Given the description of an element on the screen output the (x, y) to click on. 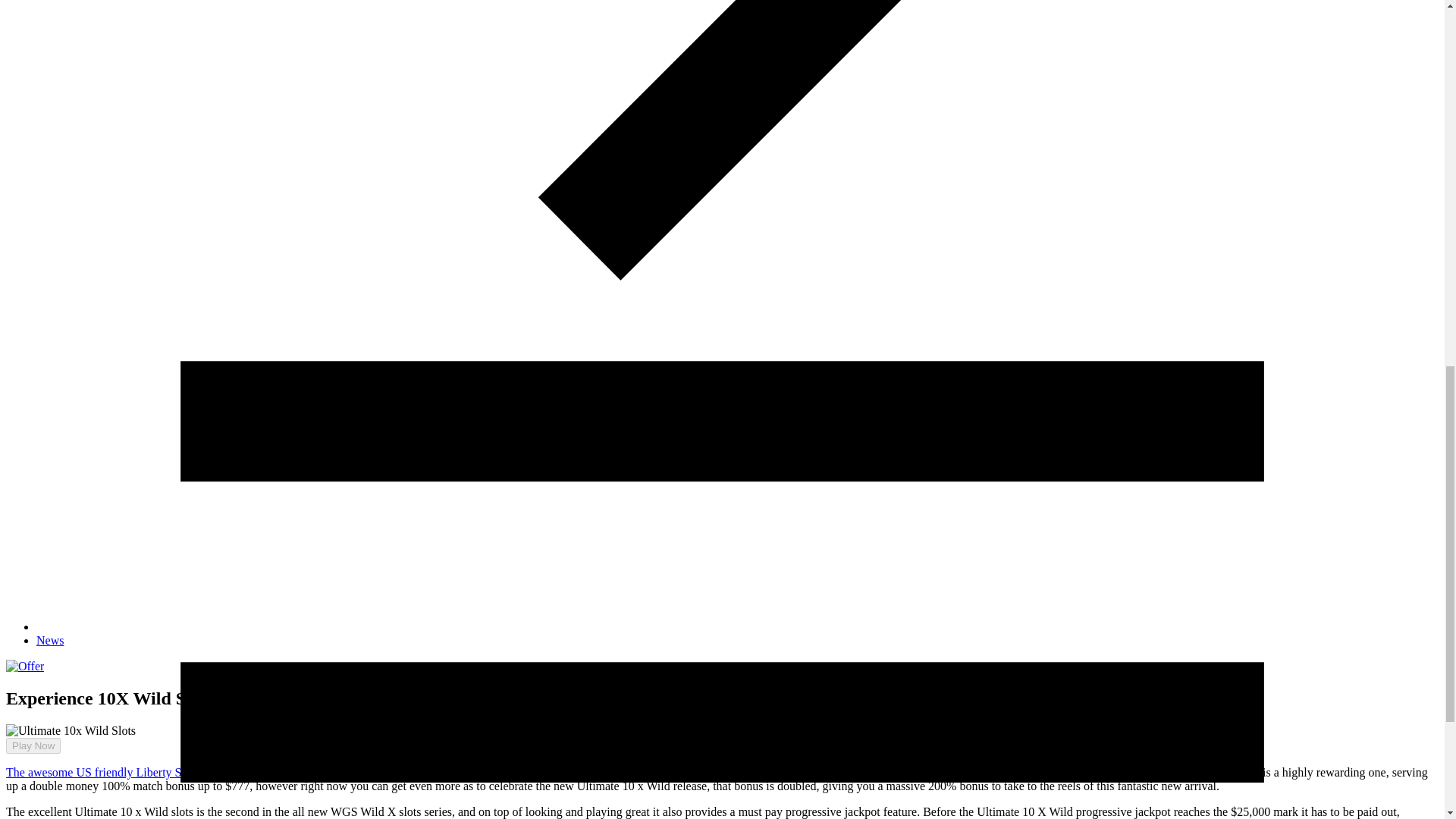
News (50, 640)
the outstanding new Ultimate 10x Wild Slots (410, 771)
Play Now (27, 731)
The awesome US friendly Liberty Slots Casino (120, 771)
Play Now (33, 745)
